Given the description of an element on the screen output the (x, y) to click on. 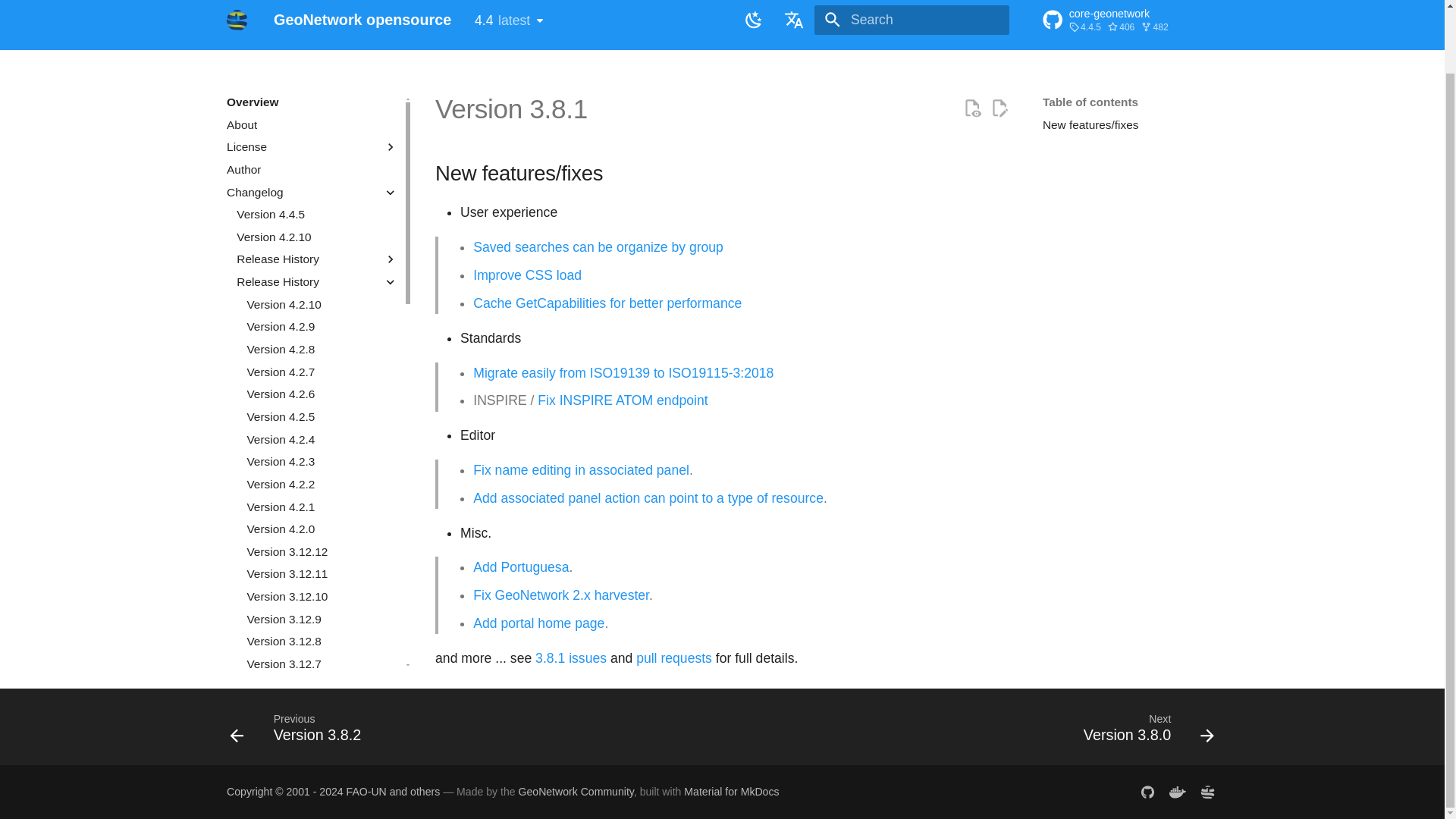
API (620, 29)
Changelog (301, 192)
View source of this page (971, 107)
About (1129, 4)
Version 4.2.10 (312, 124)
Overview (321, 304)
Annexes (335, 29)
GeoNetwork opensource (825, 29)
Overview (236, 2)
User Guide (312, 102)
Help (454, 29)
Author (392, 29)
Maintainer Guide (312, 169)
Version 4.2.8 (547, 29)
